Given the description of an element on the screen output the (x, y) to click on. 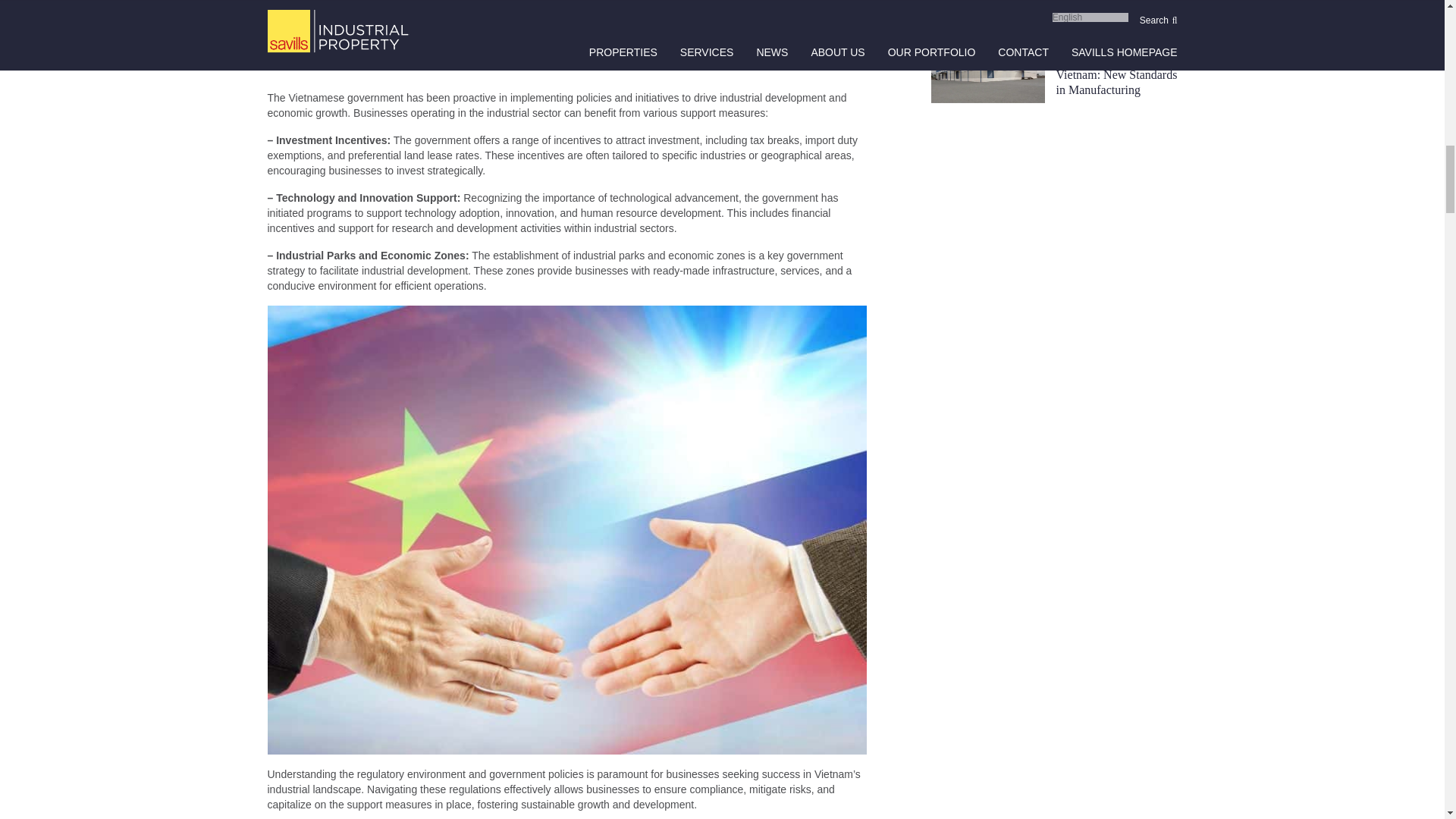
BLOG (1115, 39)
Modern Factory in Vietnam: New Standards in Manufacturing (1115, 74)
Modern Factory in Vietnam: New Standards in Manufacturing (1115, 74)
